Given the description of an element on the screen output the (x, y) to click on. 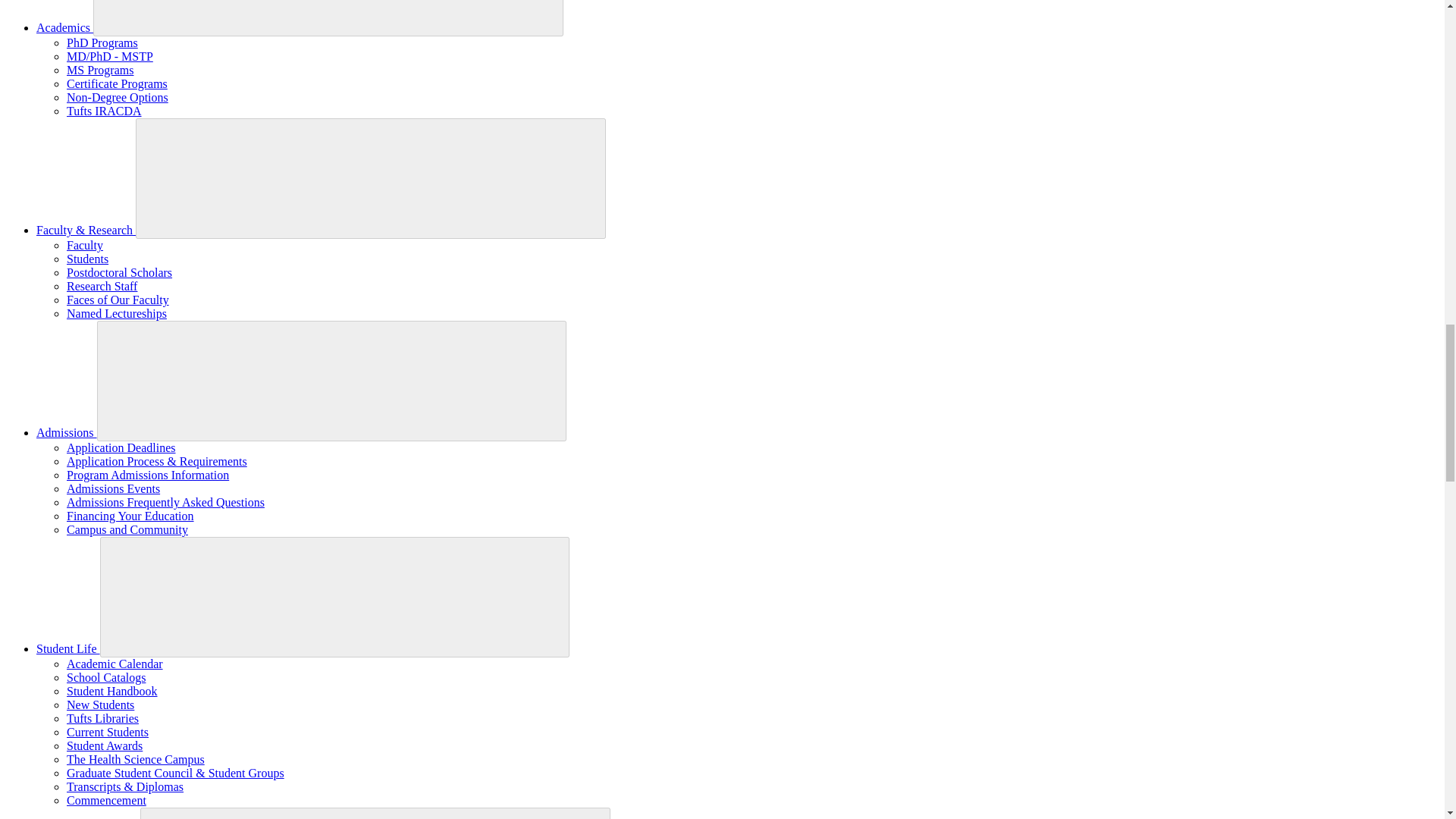
Non-Degree Options (117, 97)
Students (86, 258)
Tufts IRACDA (103, 110)
Academics (64, 27)
PhD Programs (102, 42)
Certificate Programs (116, 83)
Faculty (84, 245)
MS Programs (99, 69)
